Given the description of an element on the screen output the (x, y) to click on. 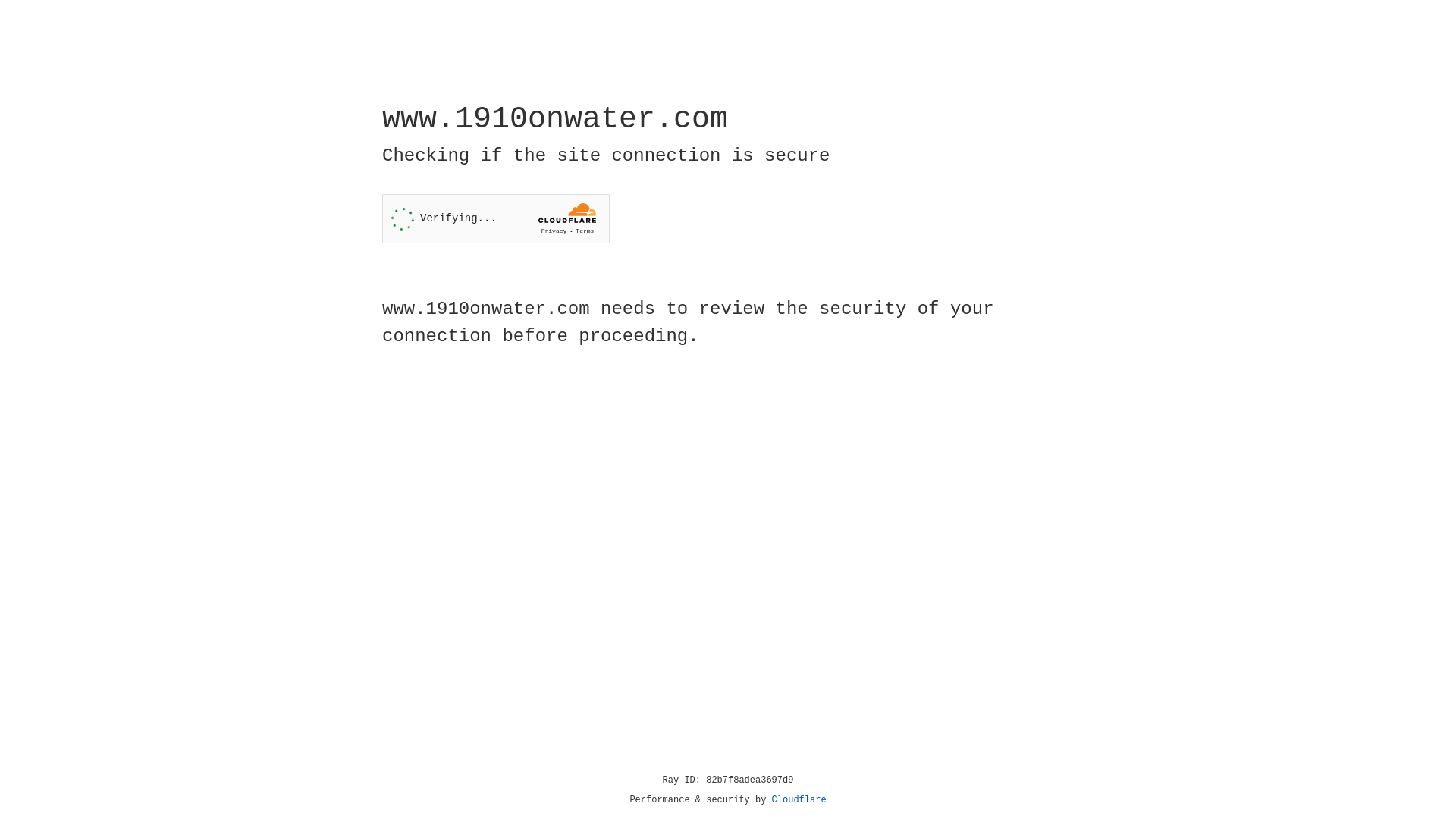
Cloudflare Element type: text (798, 799)
Widget containing a Cloudflare security challenge Element type: hover (495, 218)
